Given the description of an element on the screen output the (x, y) to click on. 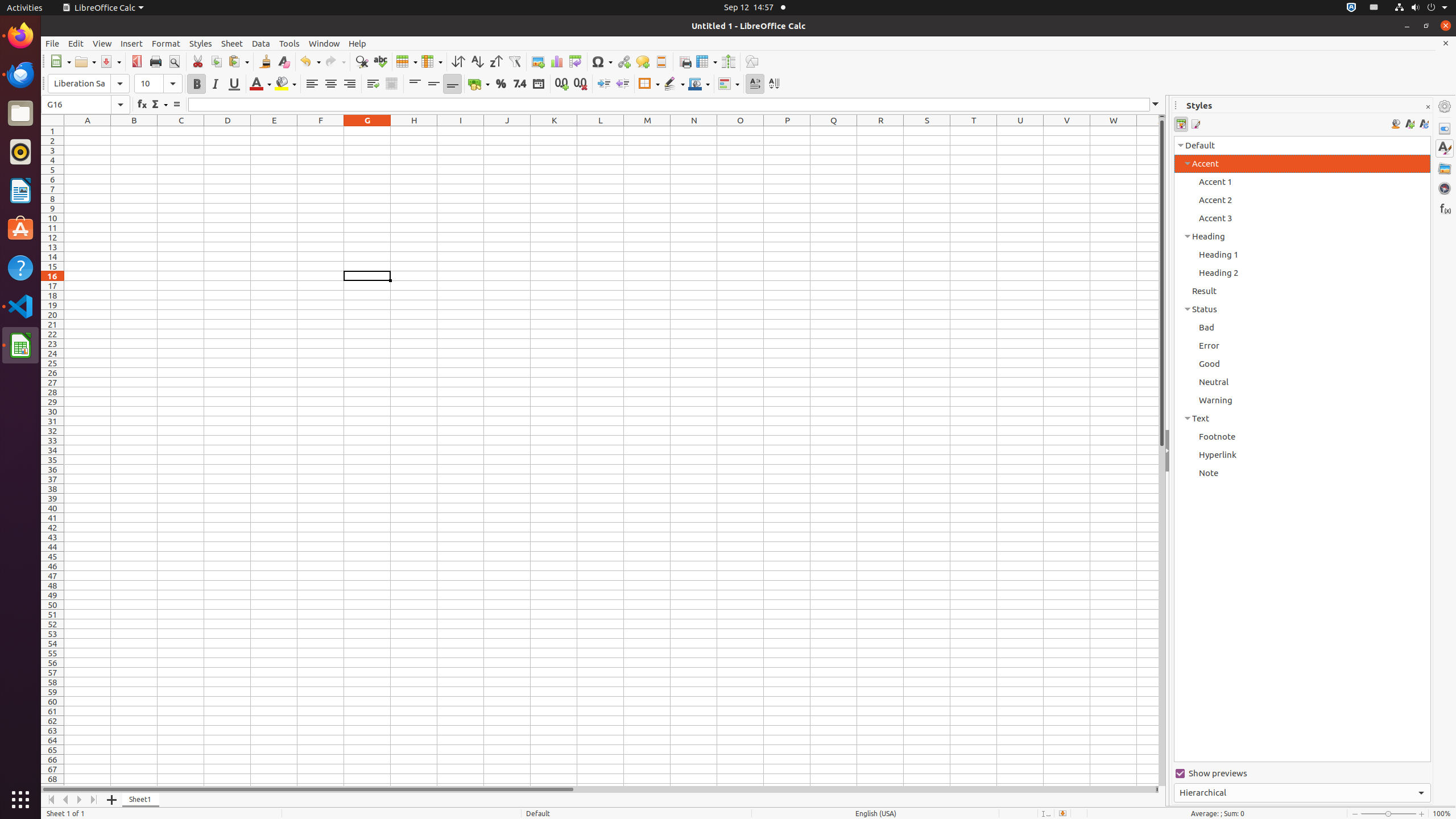
Chart Element type: push-button (556, 61)
J1 Element type: table-cell (507, 130)
Move To End Element type: push-button (94, 799)
Font Size Element type: combo-box (158, 83)
Undo Element type: push-button (309, 61)
